Given the description of an element on the screen output the (x, y) to click on. 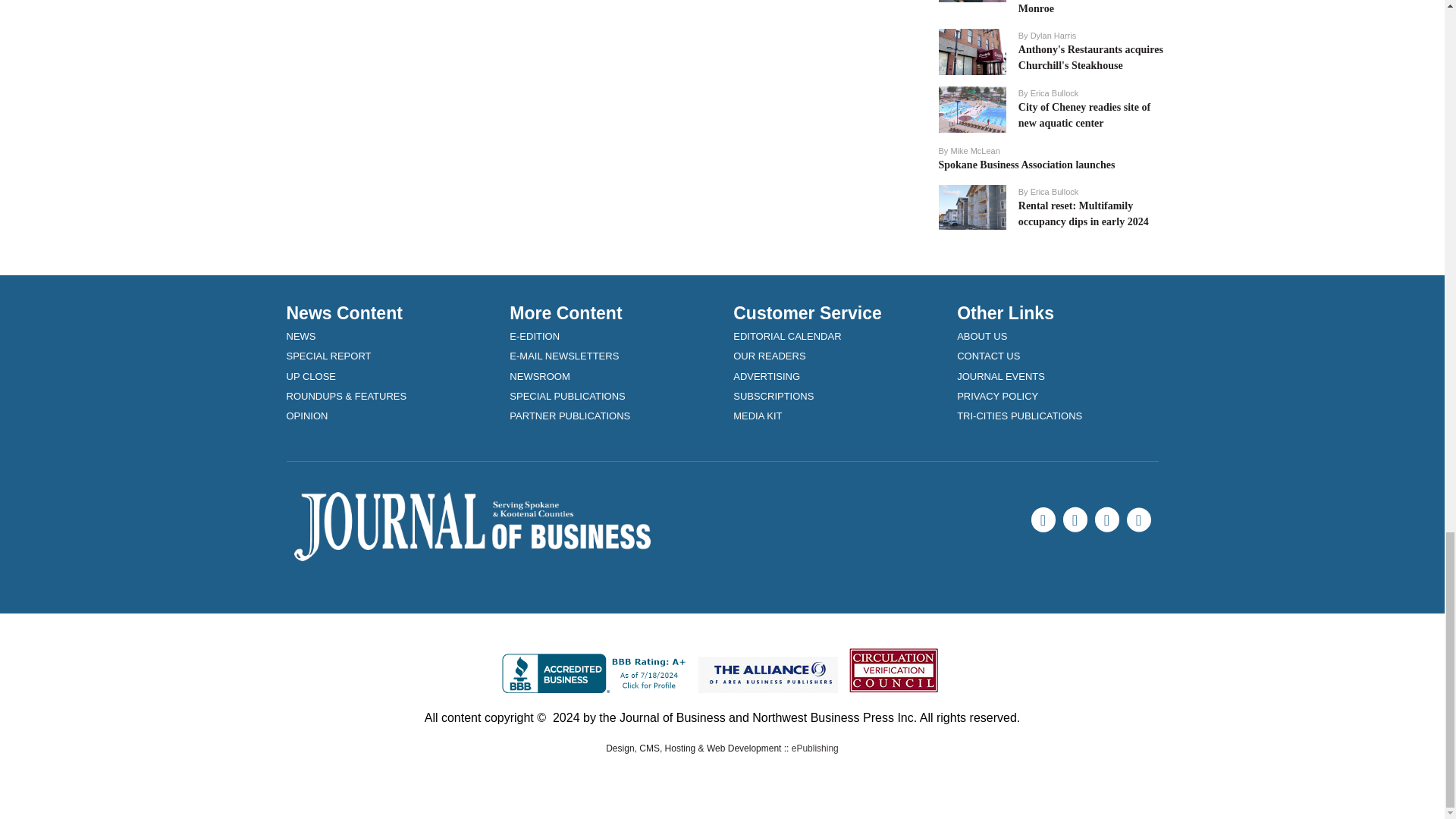
Journal of Business BBB Business Review (596, 672)
Journal of Business BBB Business Review (596, 671)
